Given the description of an element on the screen output the (x, y) to click on. 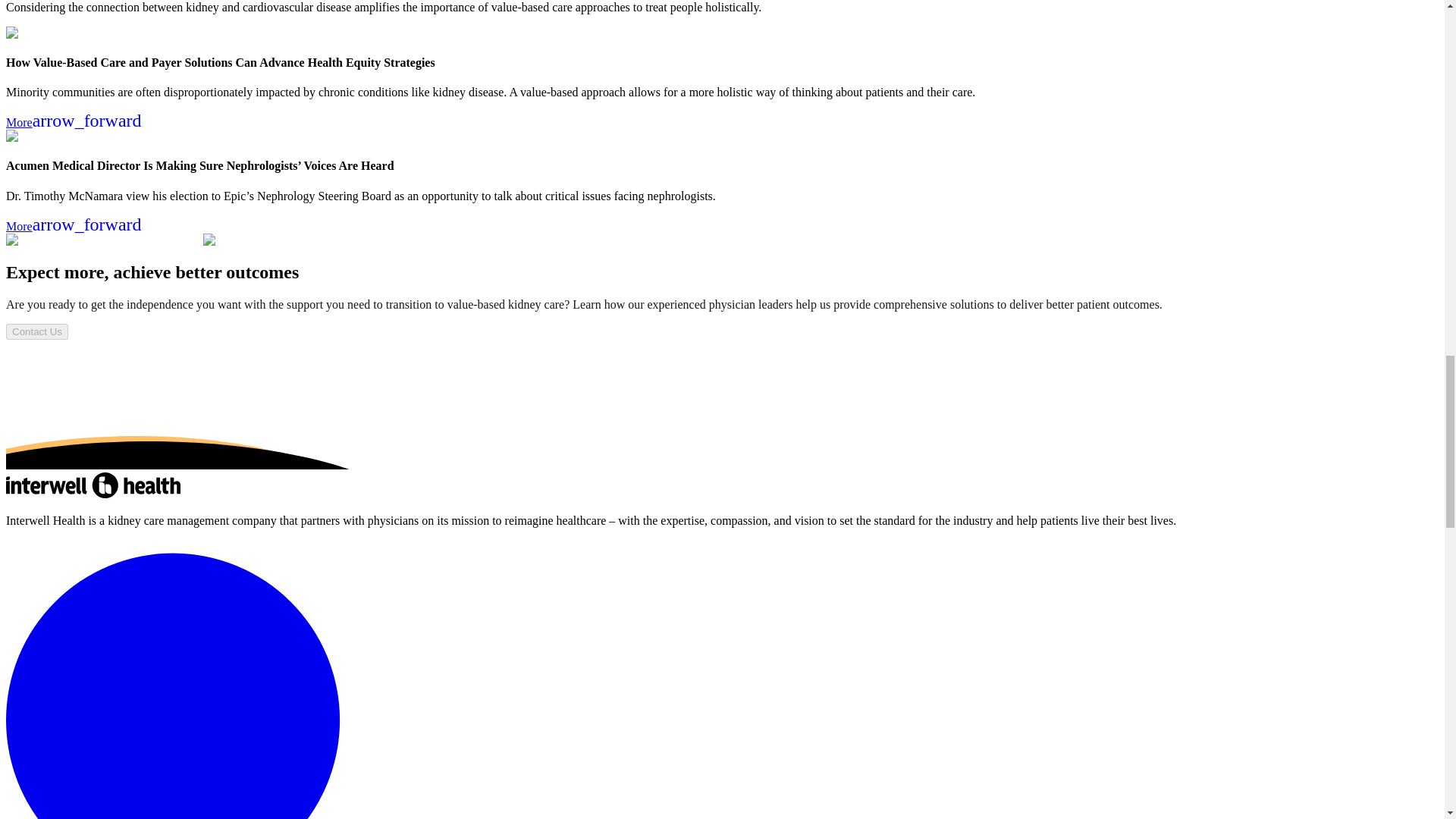
Contact Us (36, 330)
Interwell Health Logo (92, 485)
Contact Us (36, 331)
